Given the description of an element on the screen output the (x, y) to click on. 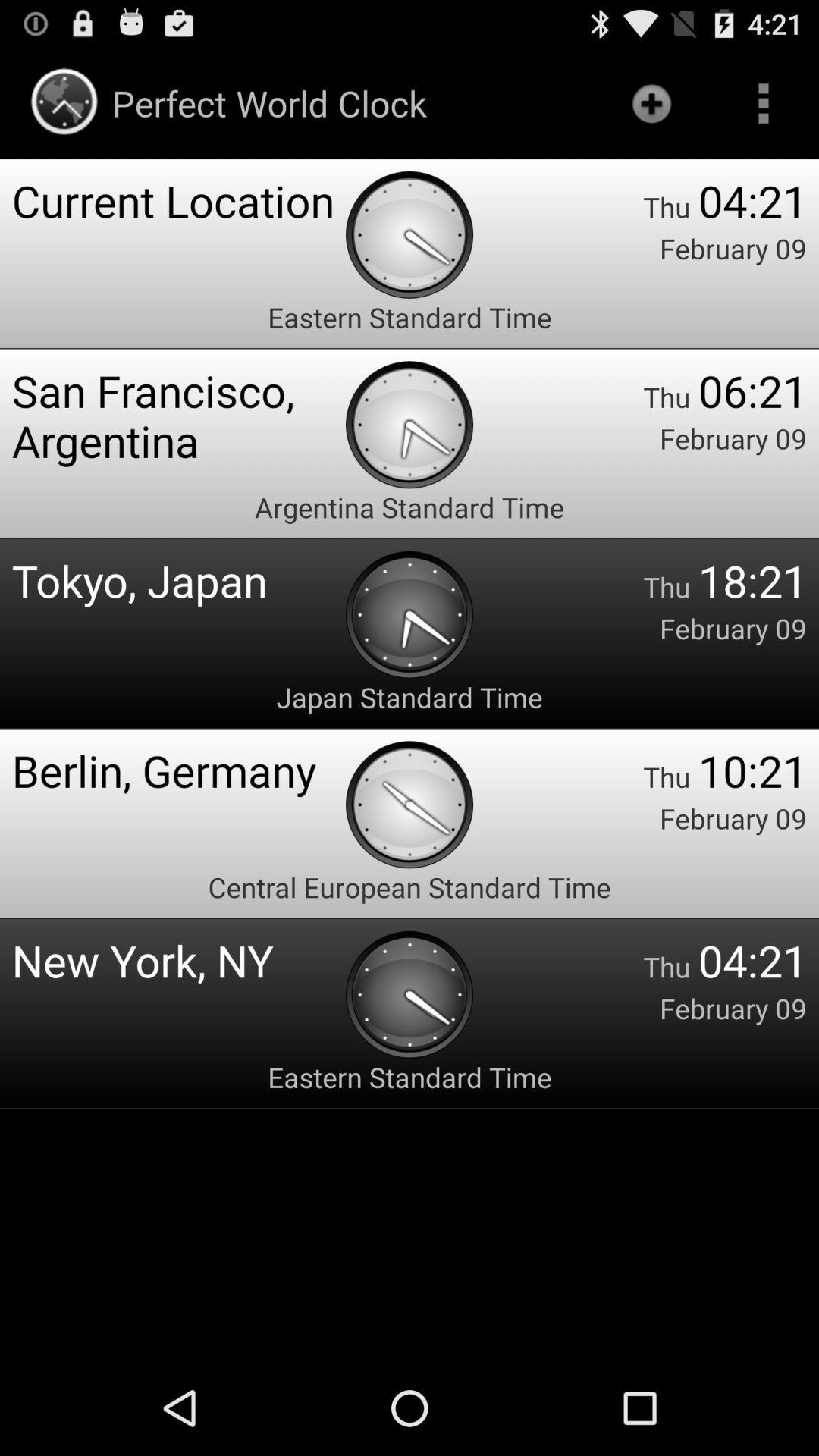
jump to tokyo, japan app (178, 580)
